Given the description of an element on the screen output the (x, y) to click on. 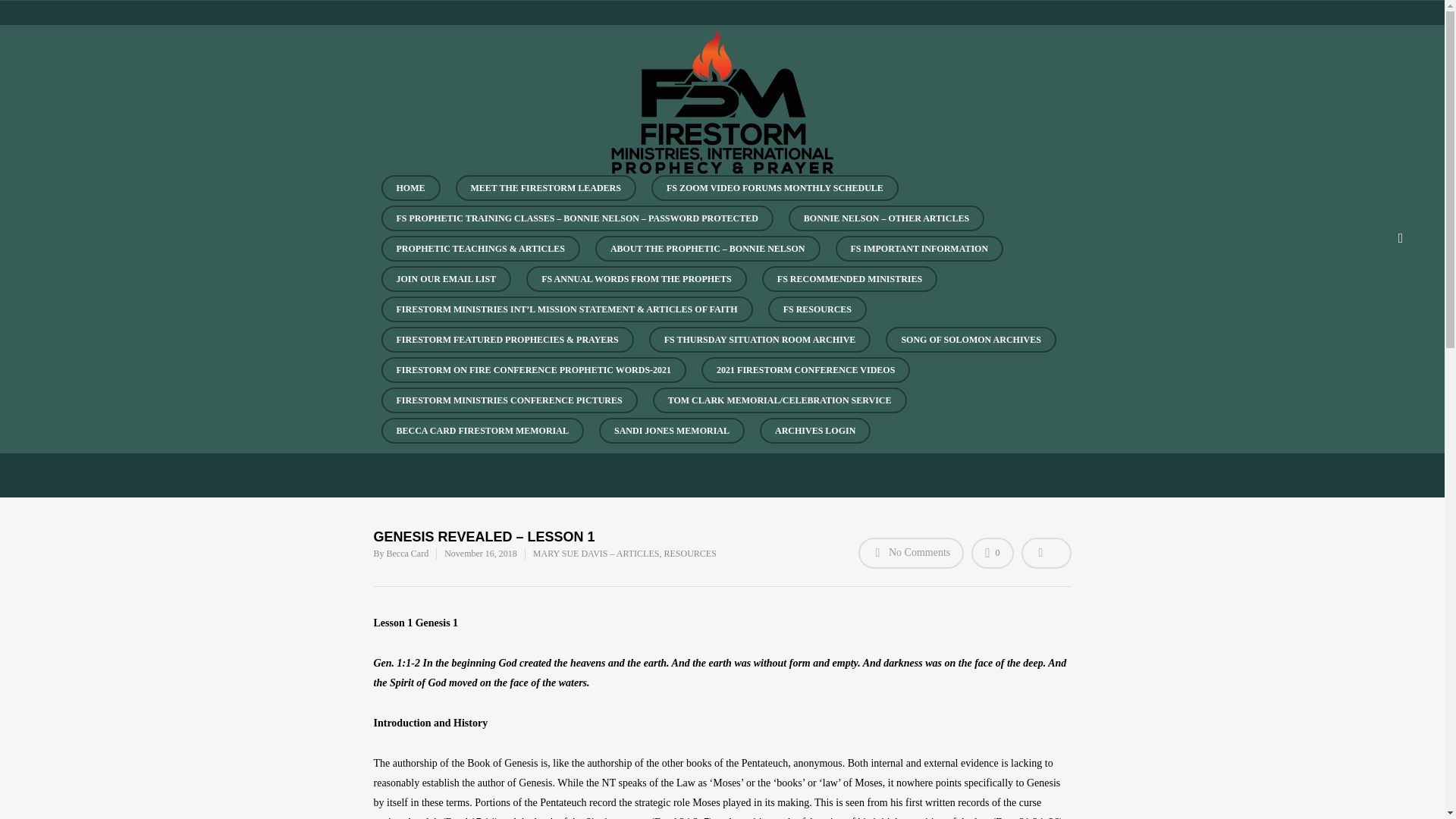
BECCA CARD FIRESTORM MEMORIAL (481, 438)
FS THURSDAY SITUATION ROOM ARCHIVE (759, 347)
Posts by Becca Card (408, 552)
SANDI JONES MEMORIAL (671, 438)
FS ANNUAL WORDS FROM THE PROPHETS (635, 286)
FIRESTORM MINISTRIES CONFERENCE PICTURES (508, 408)
2021 FIRESTORM CONFERENCE VIDEOS (805, 377)
FS RESOURCES (817, 317)
Love this (992, 552)
FS ZOOM VIDEO FORUMS MONTHLY SCHEDULE (774, 195)
